Given the description of an element on the screen output the (x, y) to click on. 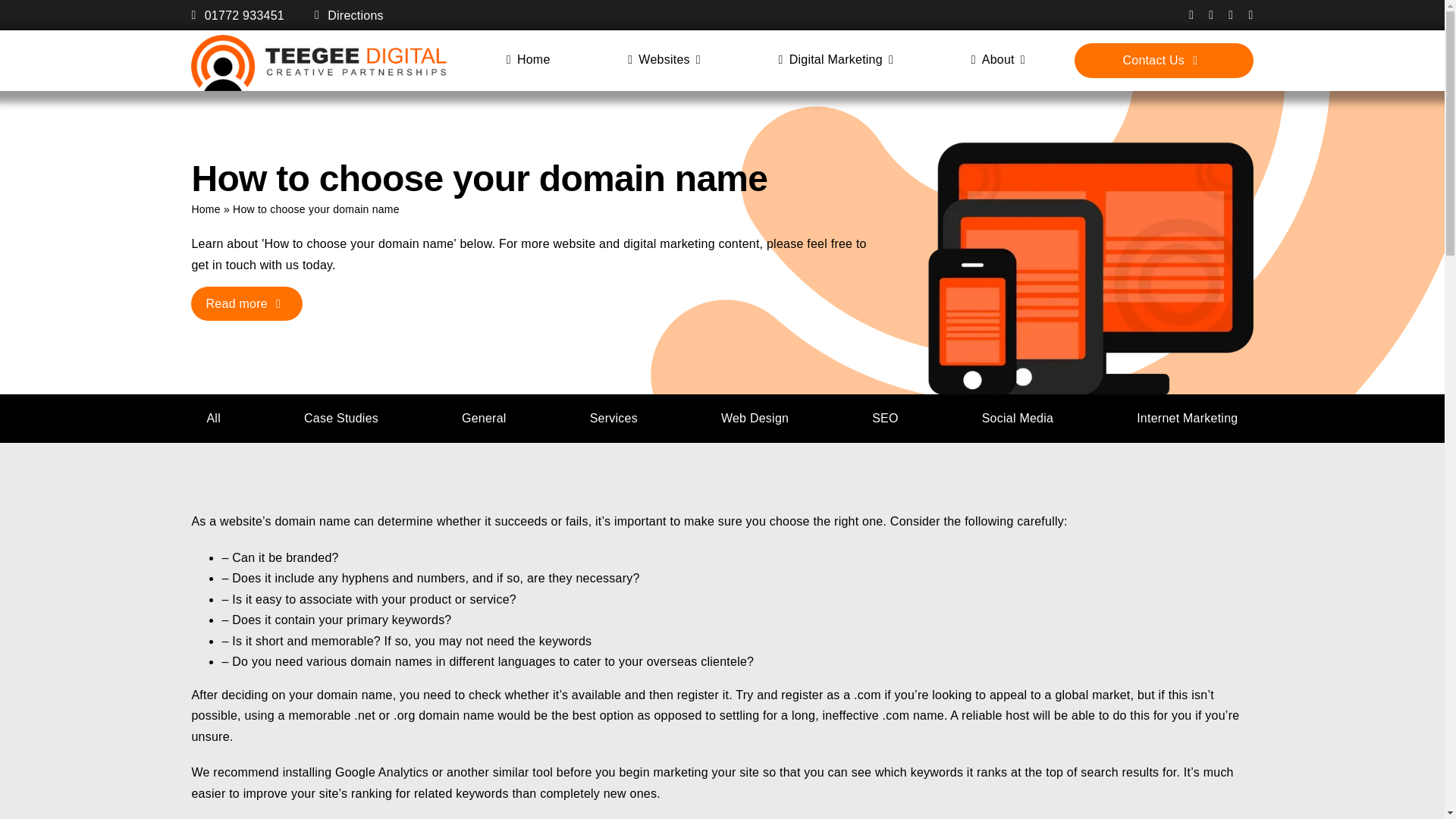
LinkedIn (1230, 15)
Spotify (1249, 15)
Home (528, 60)
Facebook (1191, 15)
Directions (349, 15)
mobile-friendly-websites (1089, 267)
Instagram (1210, 15)
Websites (663, 60)
01772 933451 (236, 15)
